Given the description of an element on the screen output the (x, y) to click on. 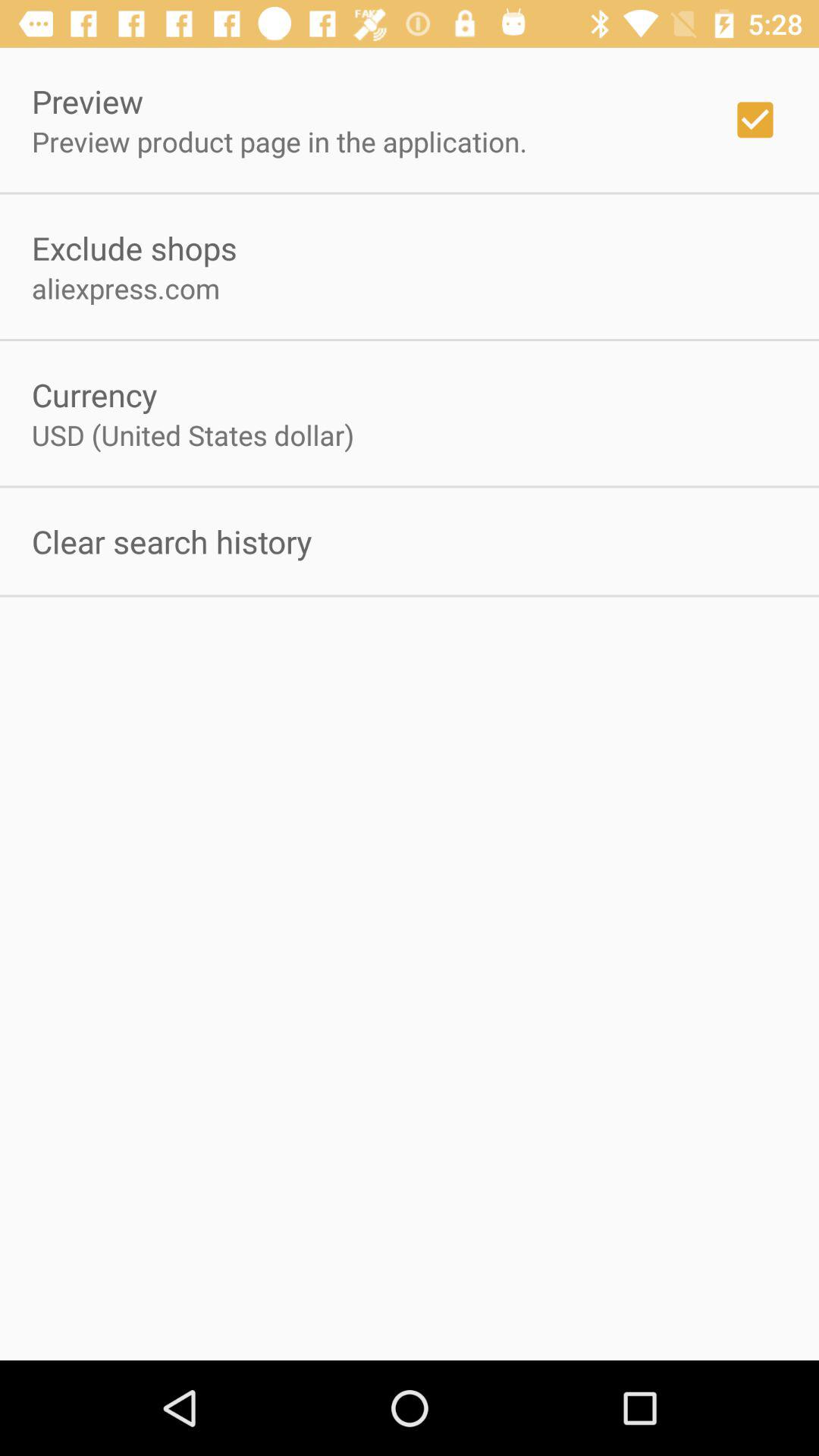
flip to aliexpress.com app (125, 288)
